Given the description of an element on the screen output the (x, y) to click on. 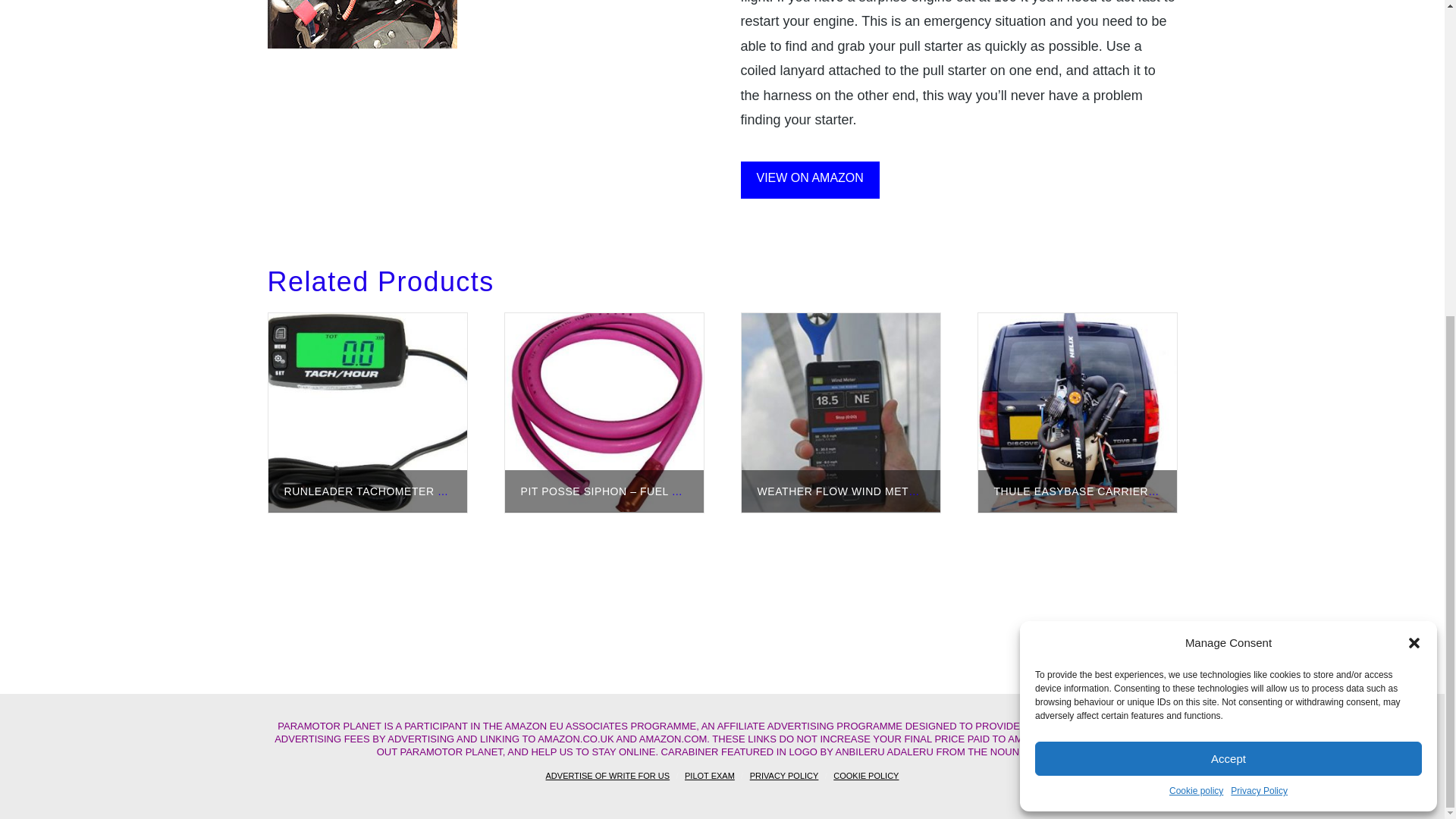
Accept (1228, 250)
pull start bungee for paramotor (361, 24)
Privacy Policy (1258, 283)
Cookie policy (1196, 283)
